Given the description of an element on the screen output the (x, y) to click on. 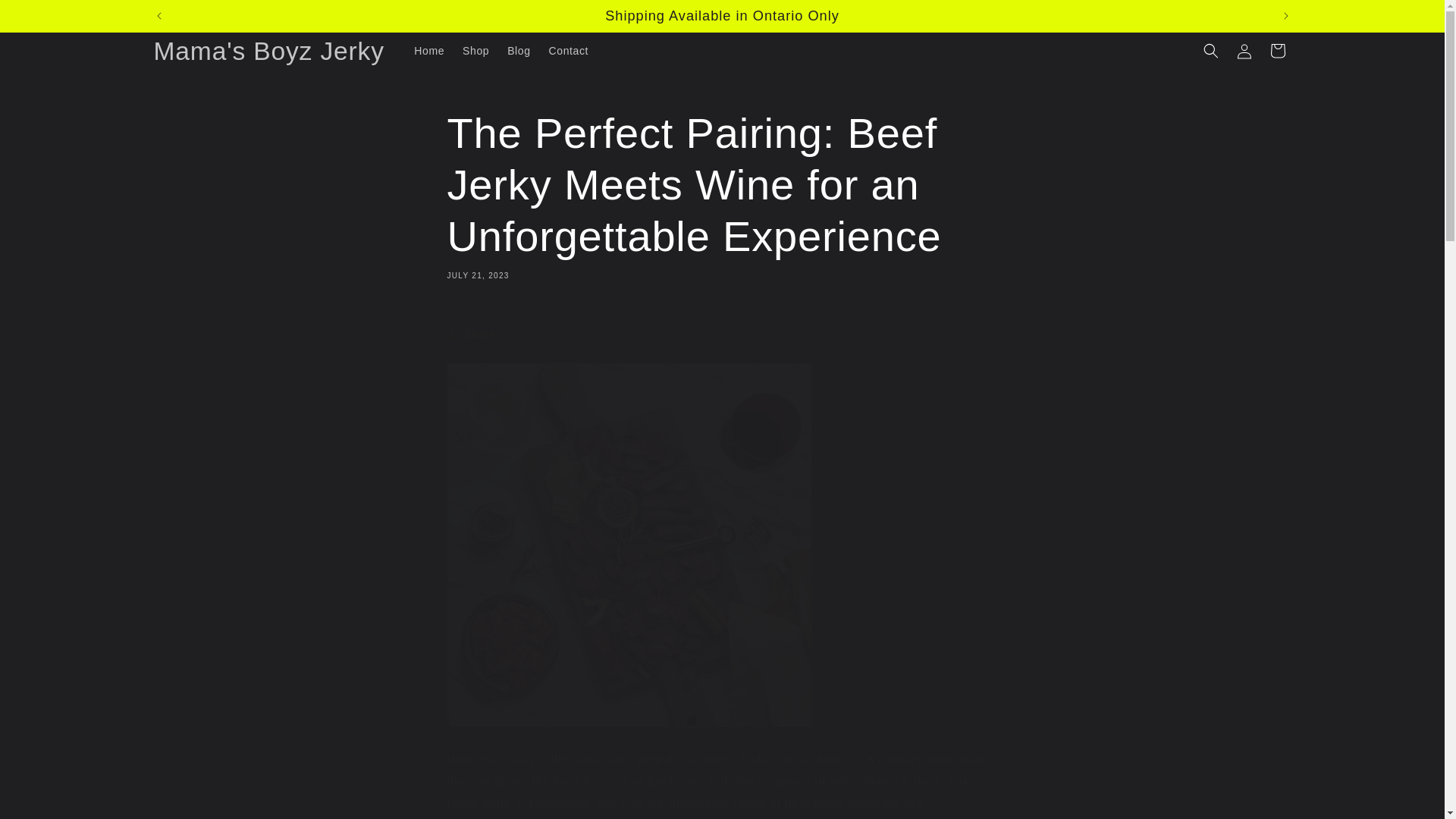
Home (428, 50)
Contact (568, 50)
Log in (1243, 50)
Blog (517, 50)
Mama's Boyz Jerky (269, 50)
Skip to content (45, 17)
Cart (1277, 50)
Share (721, 335)
Shop (474, 50)
